Given the description of an element on the screen output the (x, y) to click on. 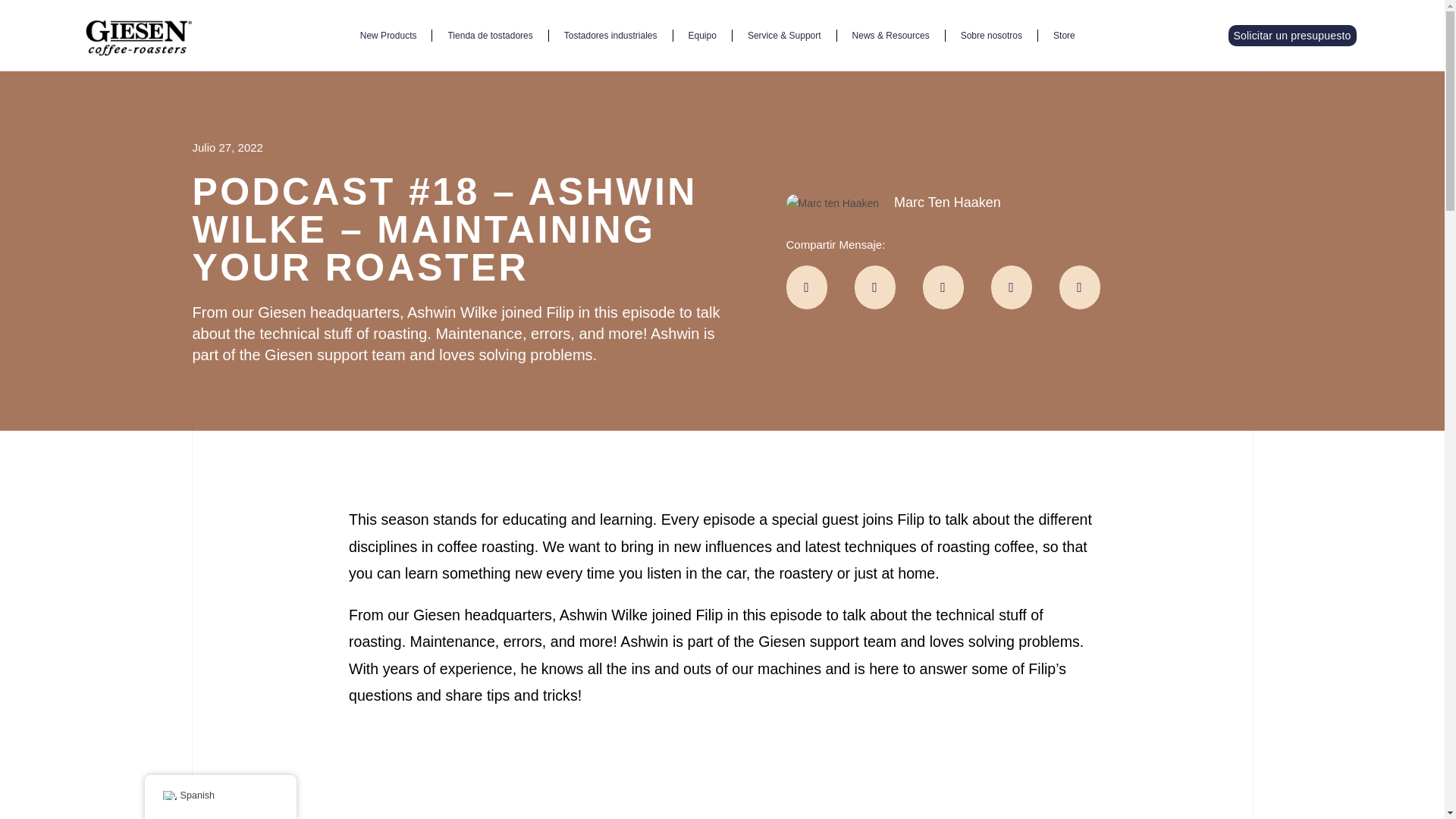
Tostadores industriales (610, 35)
Equipo (702, 35)
Sobre nosotros (990, 35)
Tienda de tostadores (489, 35)
New Products (388, 35)
Spanish (168, 795)
